Given the description of an element on the screen output the (x, y) to click on. 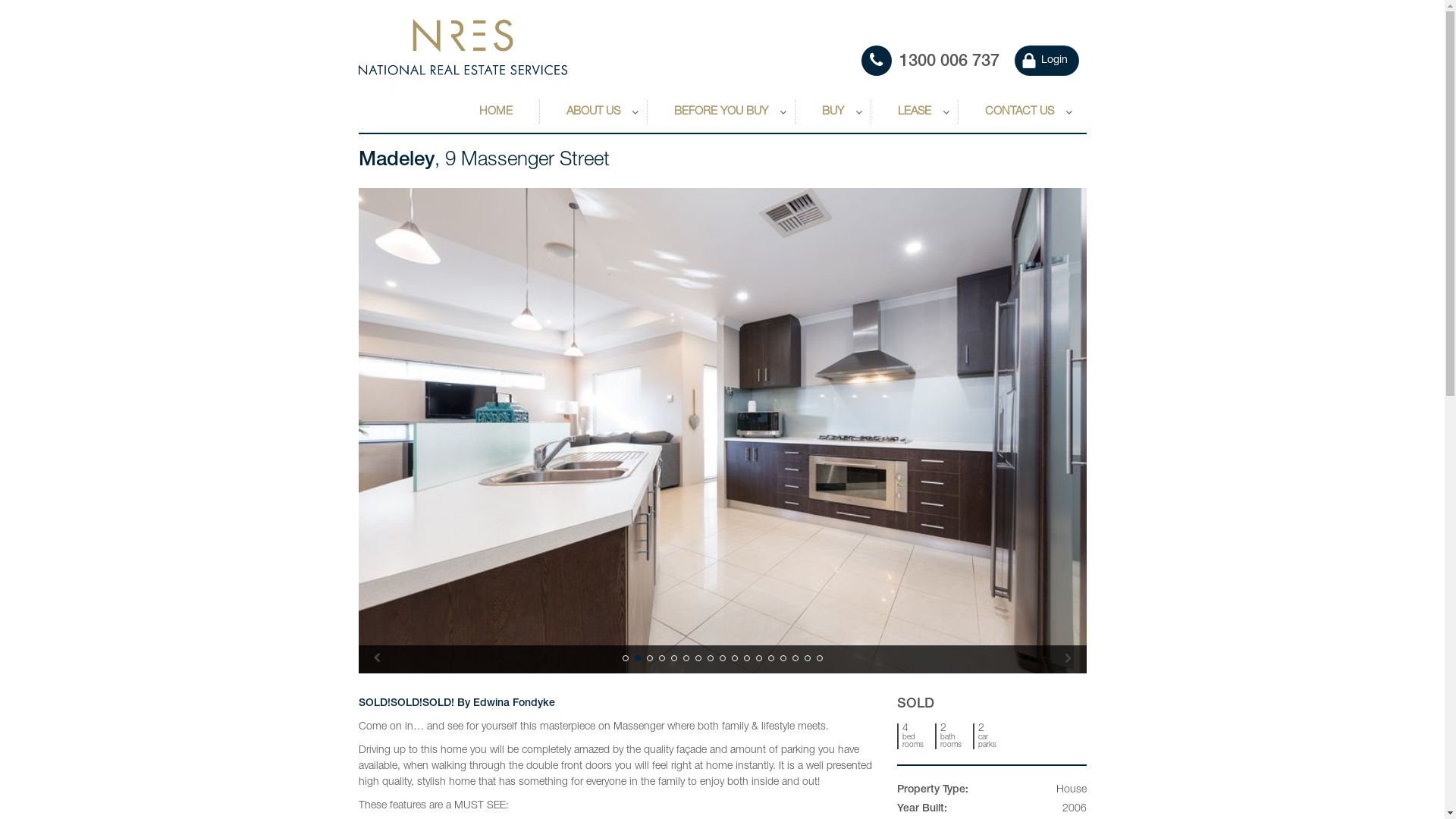
CONTACT US Element type: text (1018, 112)
BUY Element type: text (832, 112)
LEASE Element type: text (913, 112)
HOME Element type: text (495, 112)
BEFORE YOU BUY Element type: text (720, 112)
Login Element type: text (1046, 60)
ABOUT US Element type: text (592, 112)
